Given the description of an element on the screen output the (x, y) to click on. 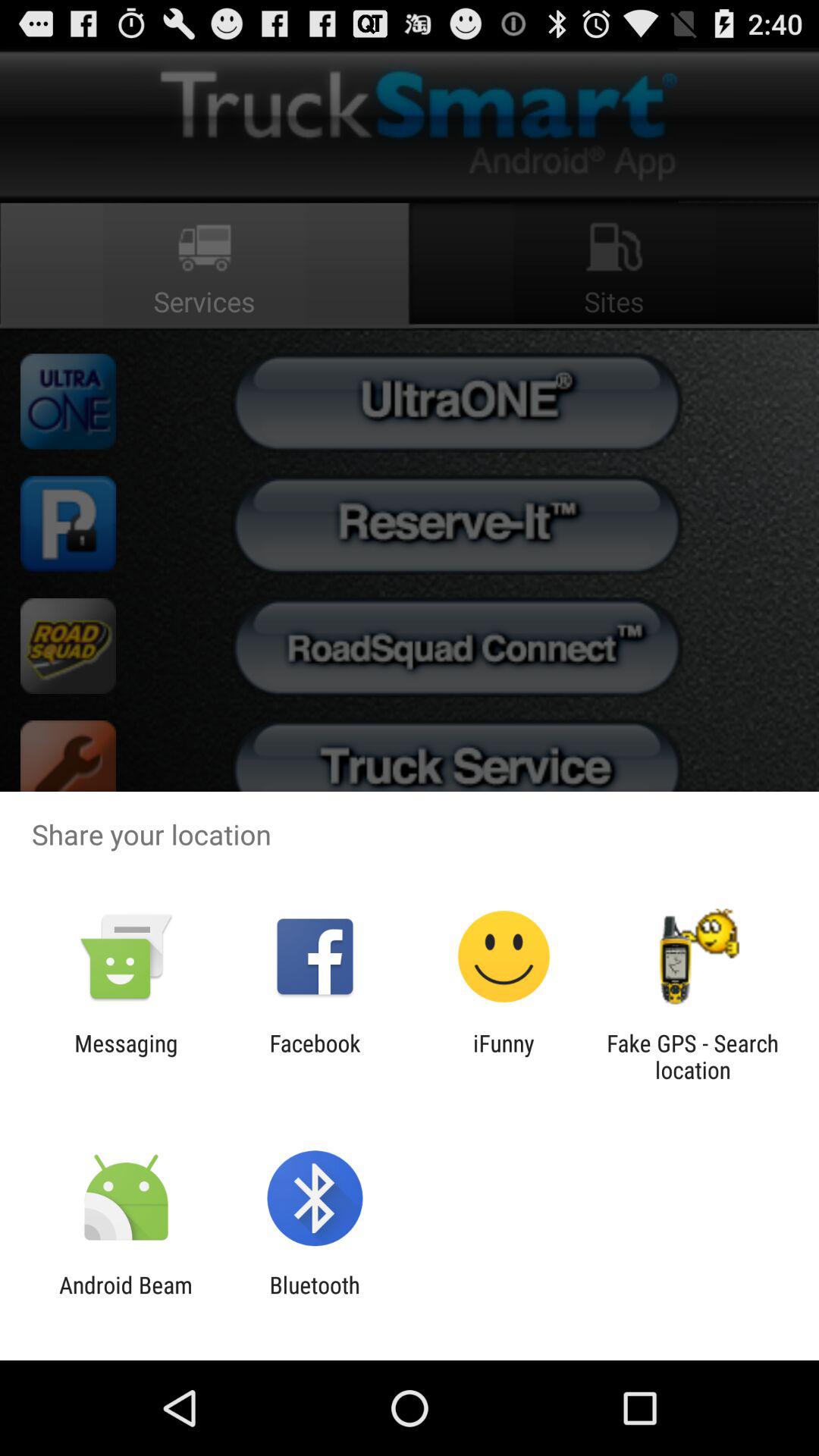
flip to the android beam item (125, 1298)
